Given the description of an element on the screen output the (x, y) to click on. 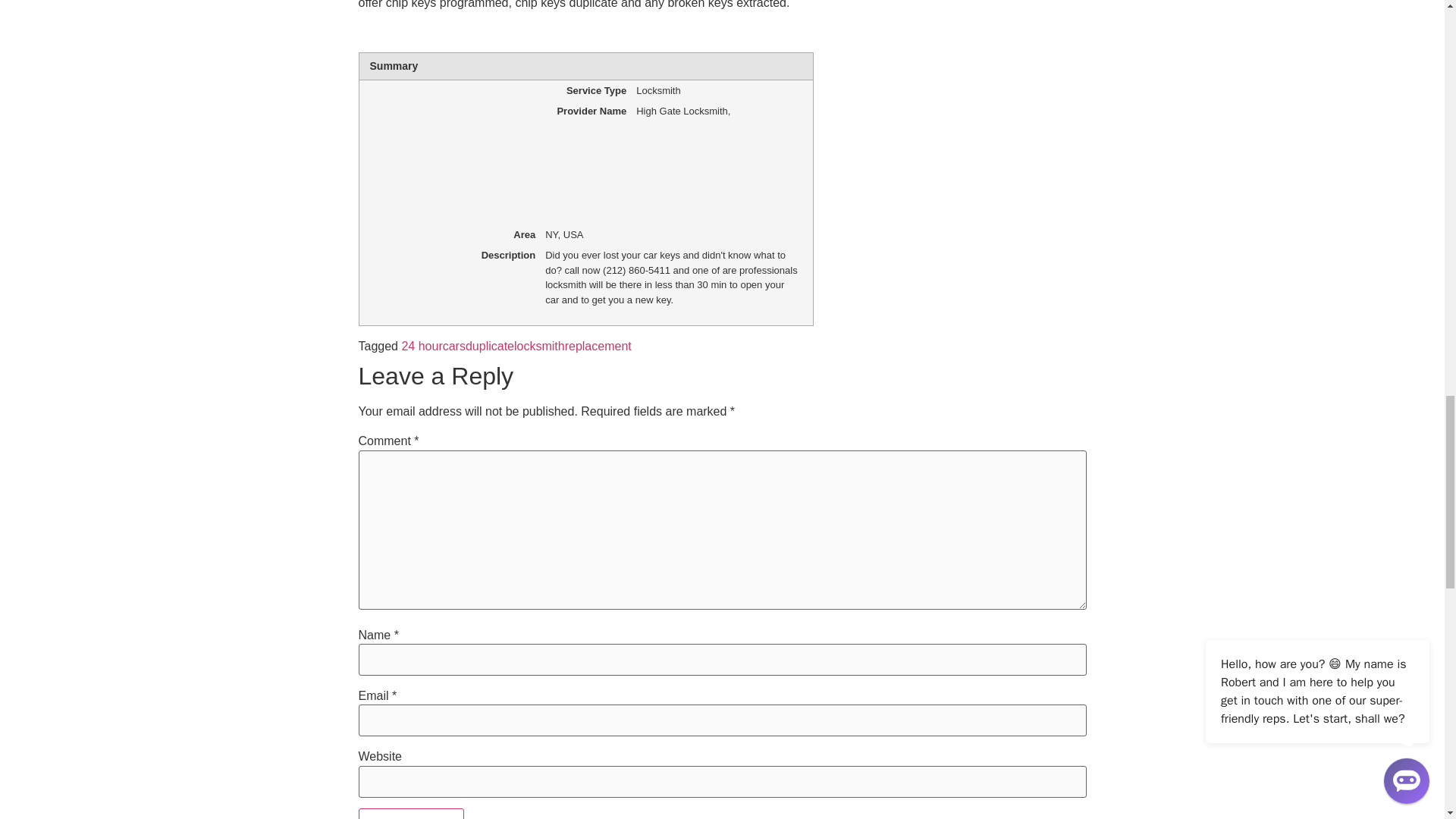
Post Comment (411, 813)
